Given the description of an element on the screen output the (x, y) to click on. 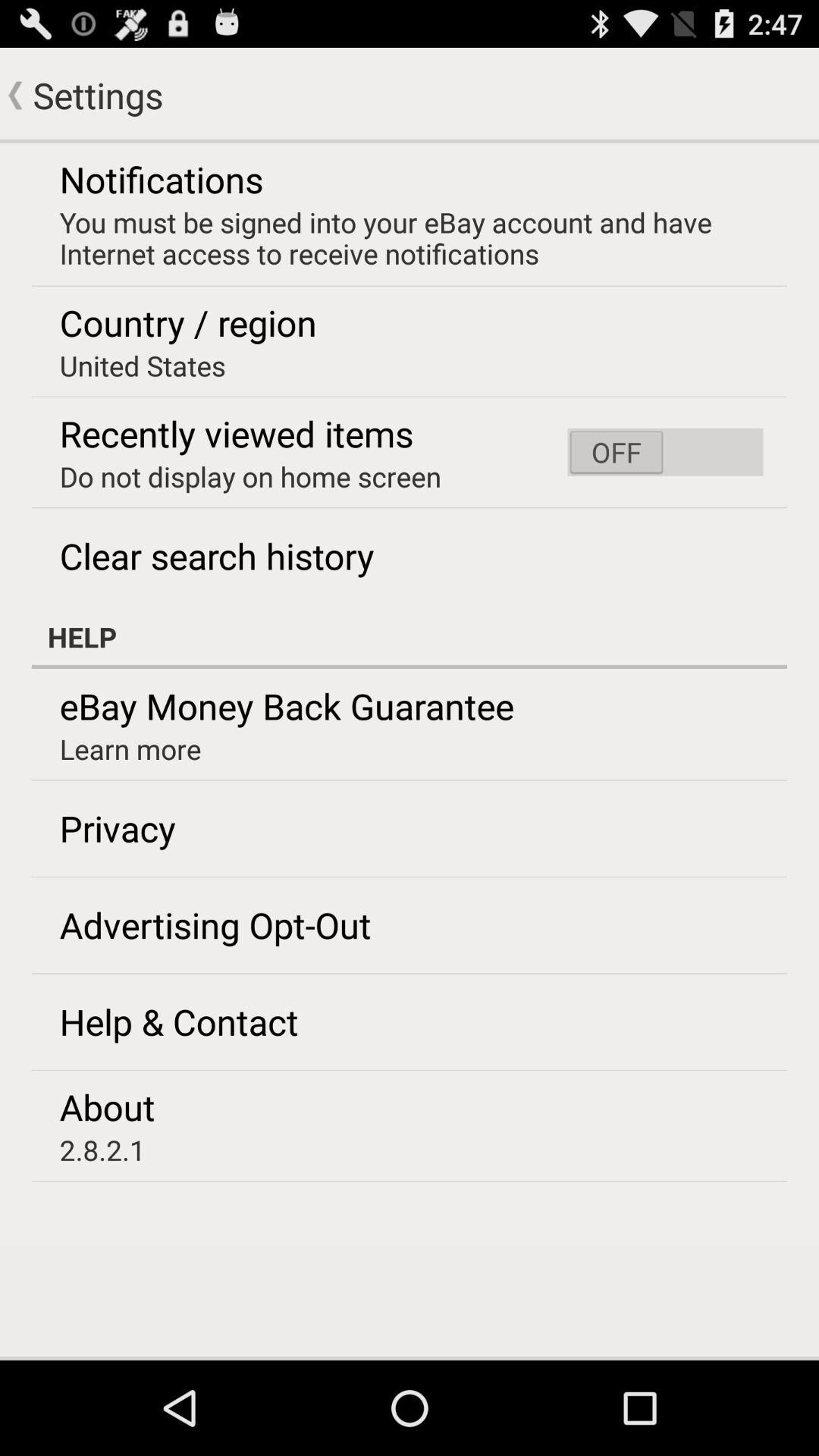
open do not display icon (250, 476)
